Given the description of an element on the screen output the (x, y) to click on. 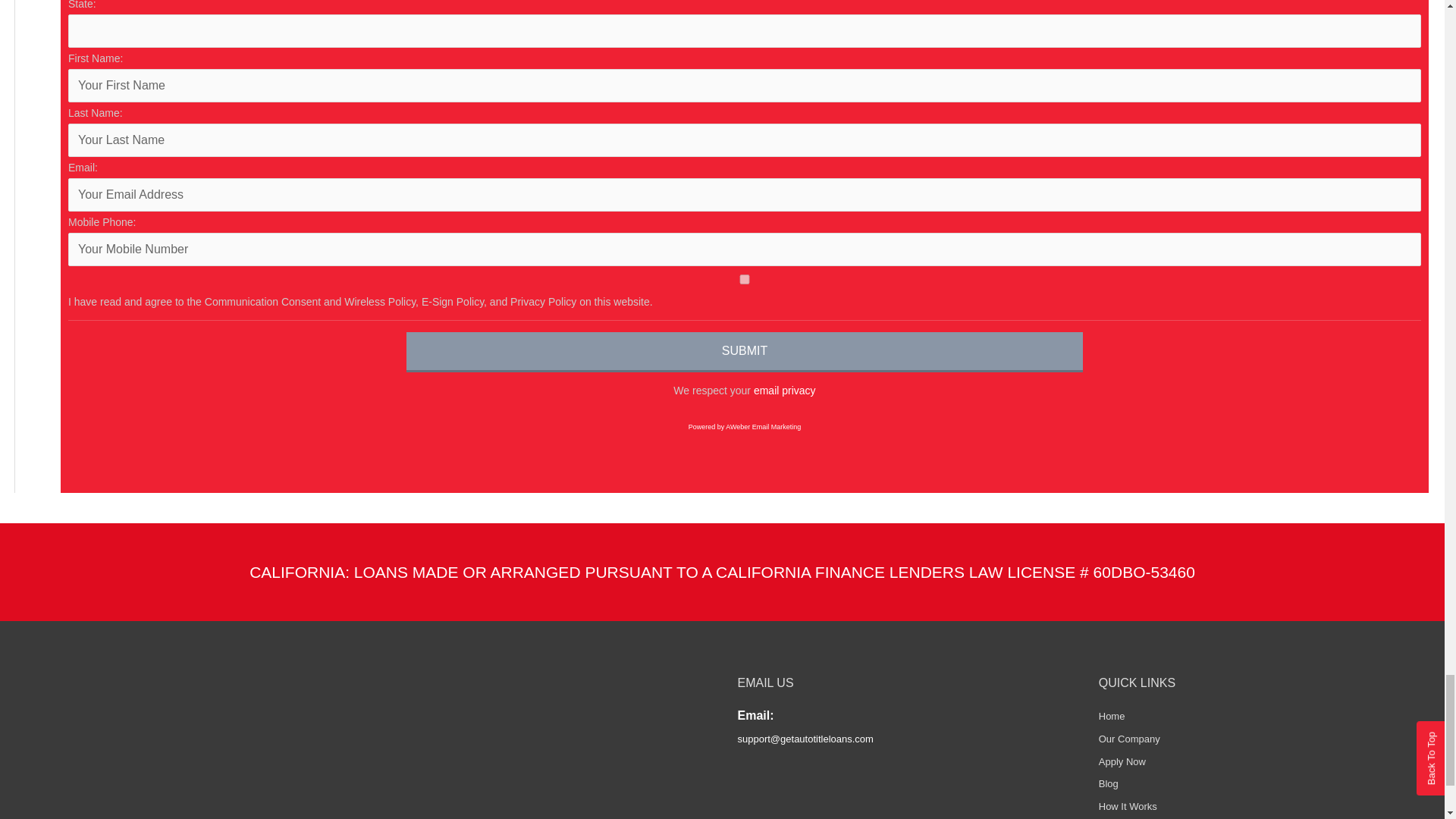
Blog (1108, 783)
Your Email Address (744, 194)
Powered by AWeber Email Marketing (745, 426)
Submit (744, 352)
Submit (744, 352)
Apply Now (1122, 761)
Your First Name (744, 85)
Your Mobile Number (744, 249)
AWeber Email Marketing (745, 426)
Privacy Policy (784, 390)
How It Works (1128, 806)
email privacy (784, 390)
Your Last Name (744, 140)
Home (1112, 715)
Our Company (1129, 738)
